Given the description of an element on the screen output the (x, y) to click on. 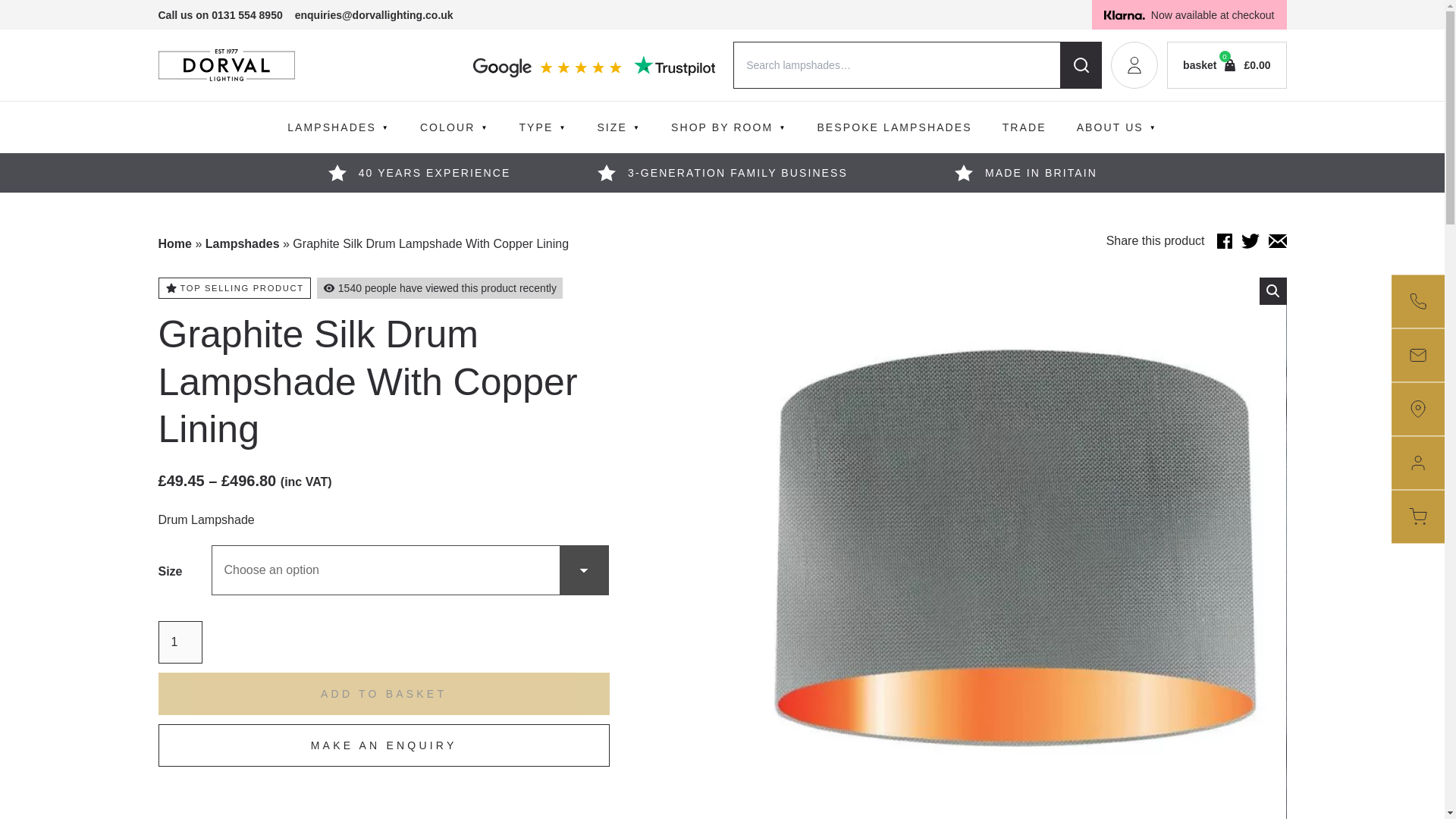
dorval (225, 65)
star (336, 172)
SIZE (618, 127)
star (963, 172)
PayPal (382, 804)
TYPE (541, 127)
Call us on 0131 554 8950 (219, 15)
COLOUR (453, 127)
LAMPSHADES (338, 127)
